Given the description of an element on the screen output the (x, y) to click on. 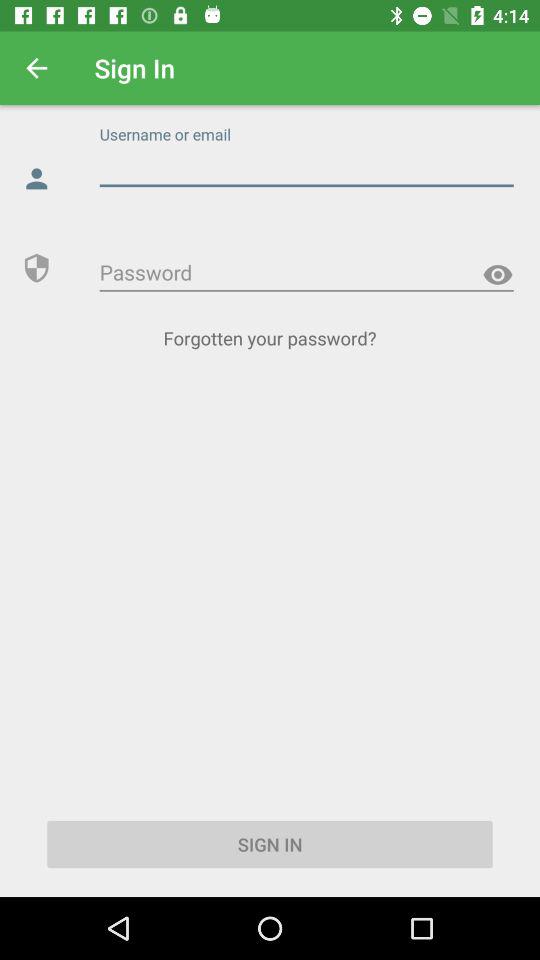
look (498, 274)
